Given the description of an element on the screen output the (x, y) to click on. 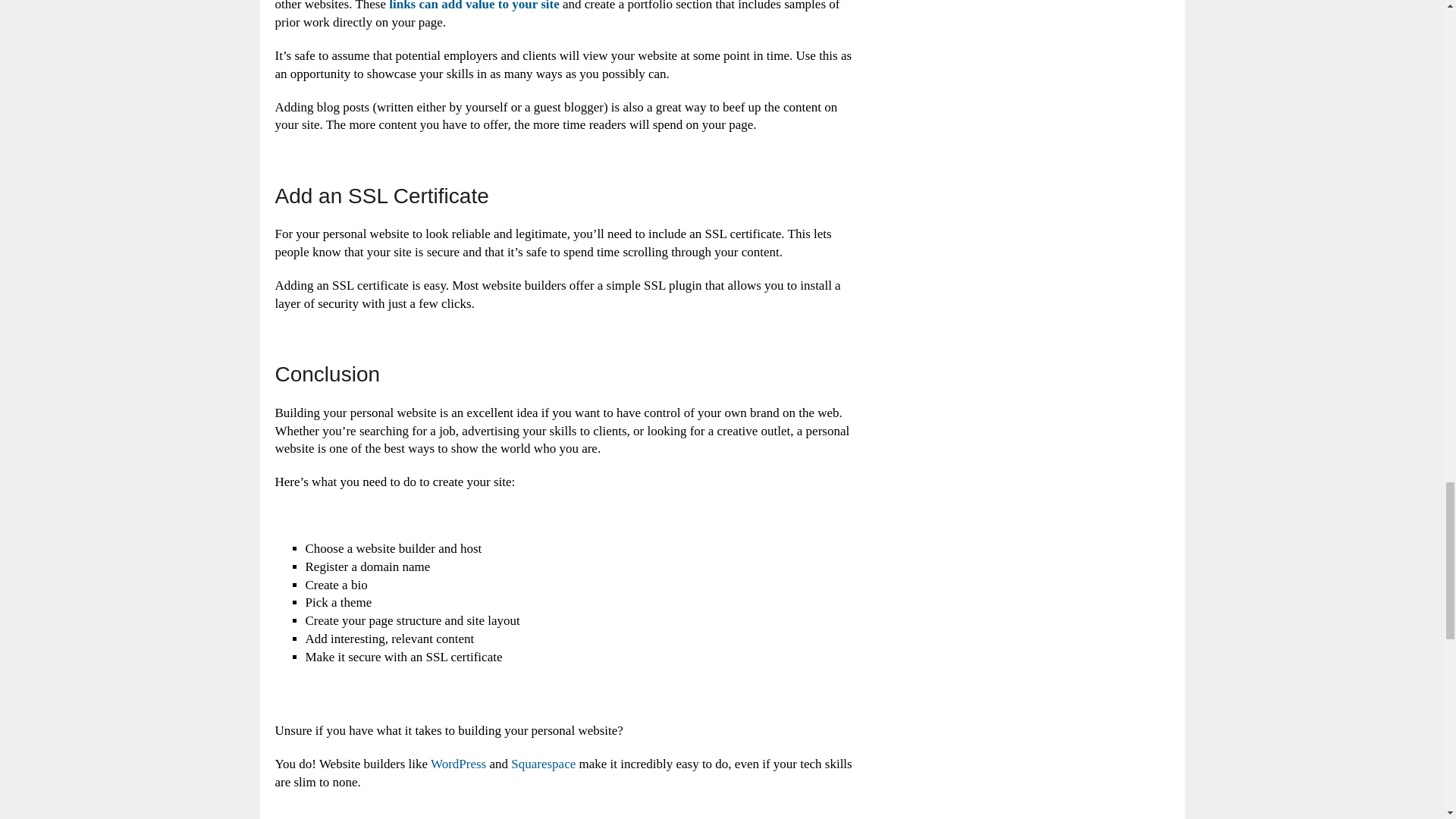
links can add value to your site (473, 5)
WordPress (458, 763)
Squarespace (543, 763)
